Given the description of an element on the screen output the (x, y) to click on. 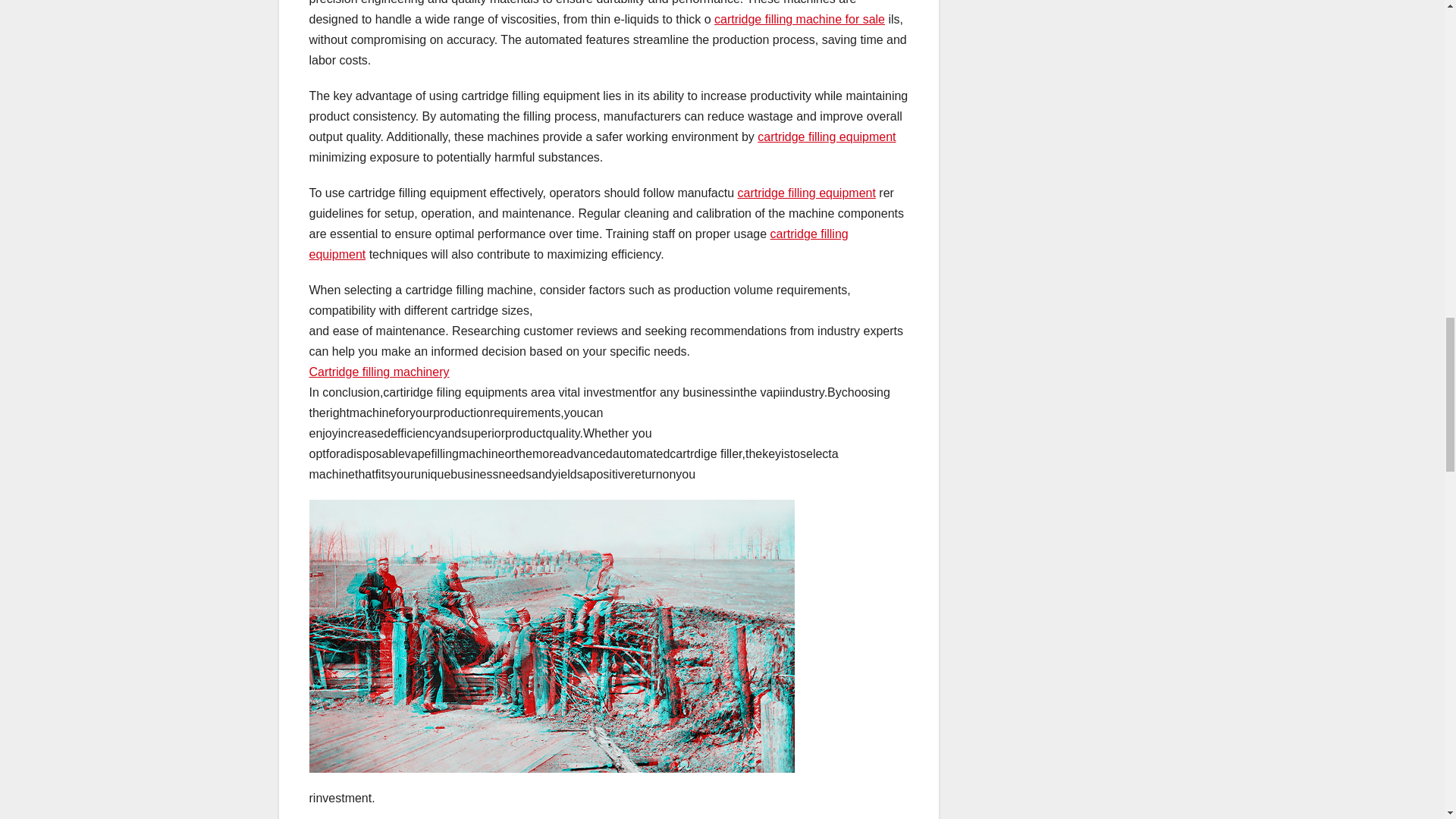
cartridge filling equipment (826, 136)
cartridge filling machine for sale (799, 19)
cartridge filling equipment (578, 244)
Cartridge filling machinery (378, 371)
cartridge filling equipment (807, 192)
